Given the description of an element on the screen output the (x, y) to click on. 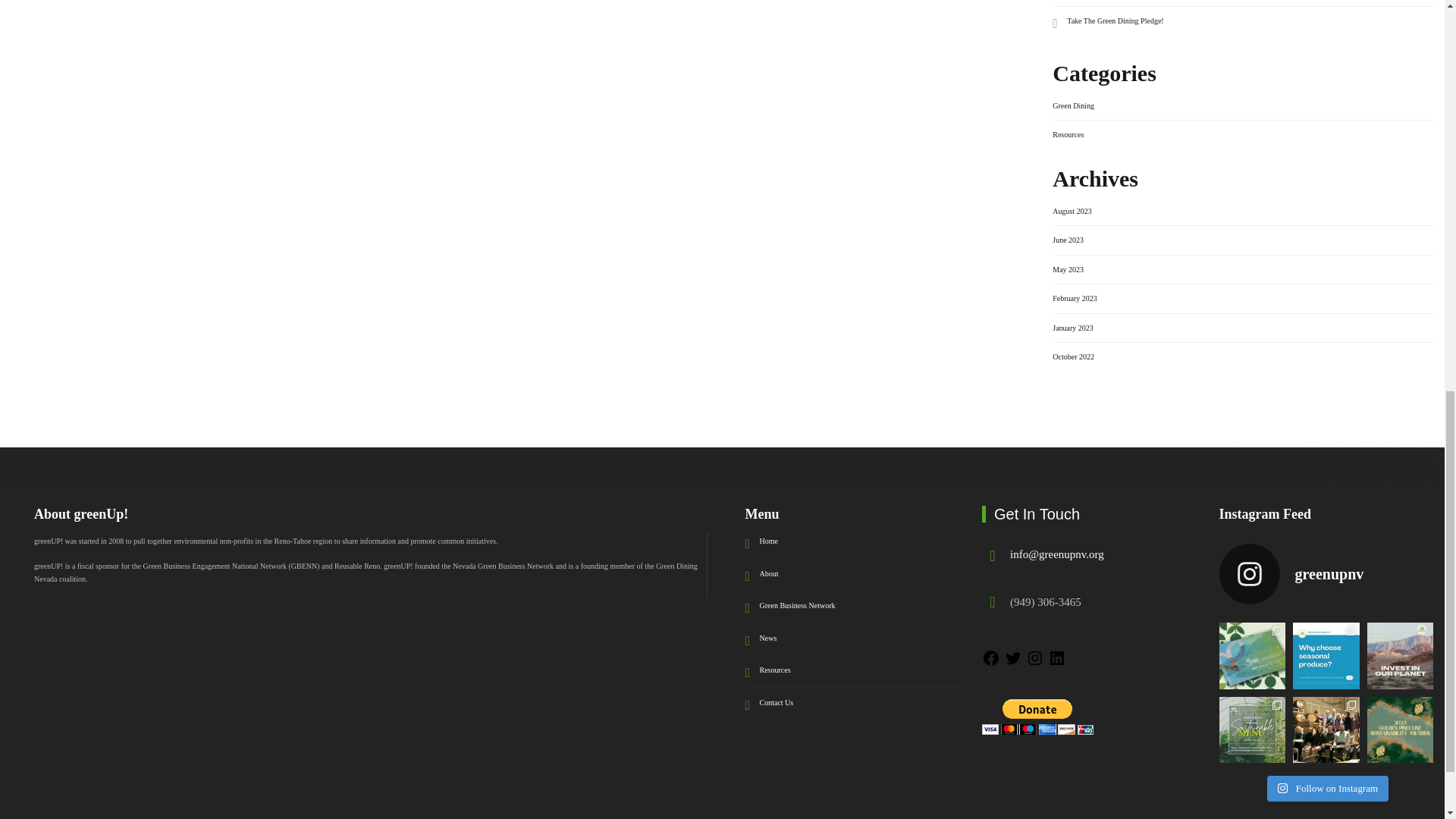
PayPal - The safer, easier way to pay online! (1037, 716)
